Given the description of an element on the screen output the (x, y) to click on. 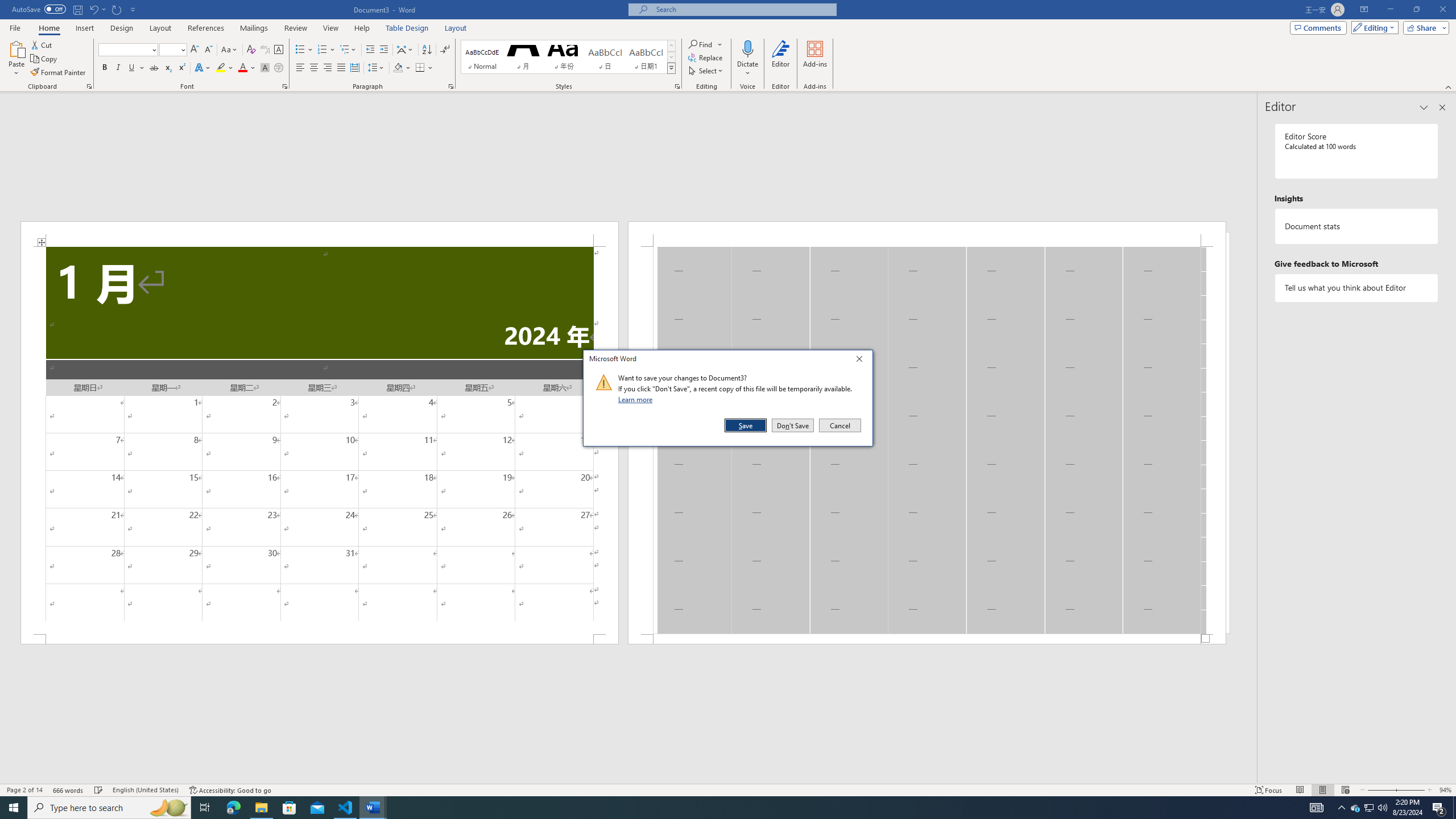
Undo Apply Quick Style (92, 9)
Visual Studio Code - 1 running window (345, 807)
Task Pane Options (1423, 107)
Microsoft Edge (233, 807)
Shading (402, 67)
Multilevel List (347, 49)
Enclose Characters... (278, 67)
Tell us what you think about Editor (1356, 288)
Styles... (676, 85)
Superscript (180, 67)
